Given the description of an element on the screen output the (x, y) to click on. 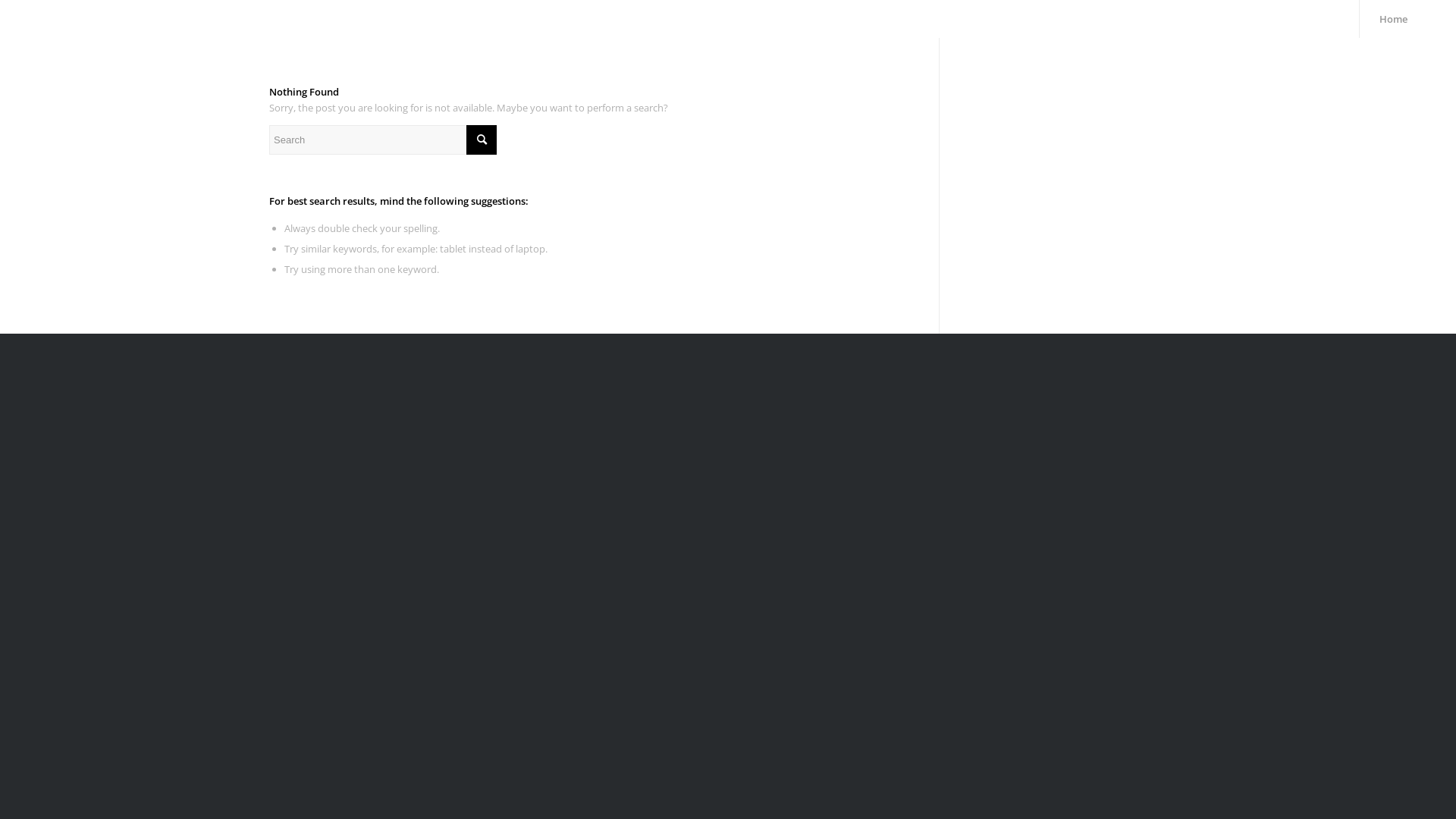
Home Element type: text (1392, 18)
